Given the description of an element on the screen output the (x, y) to click on. 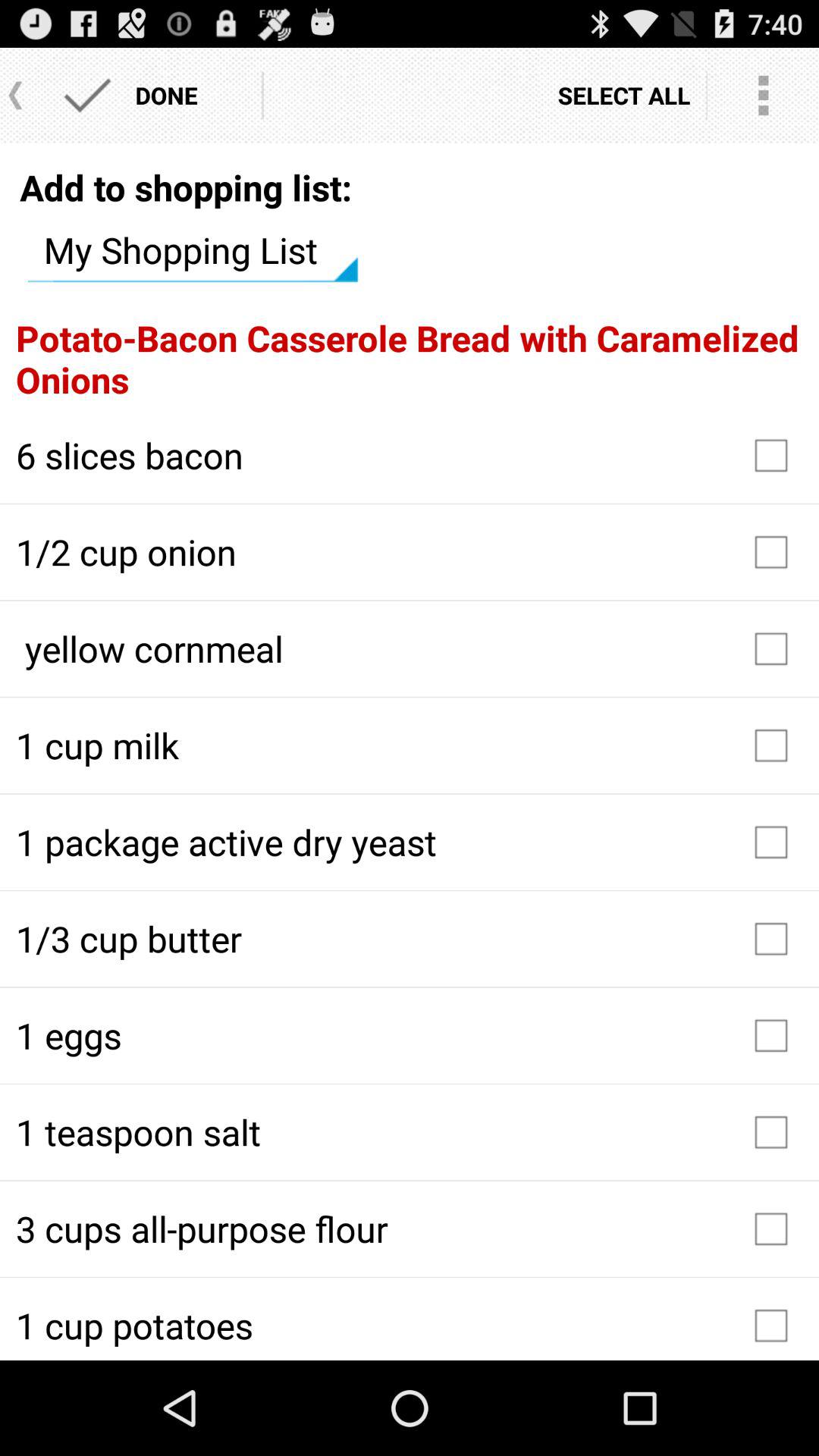
turn off item above the 1 3 cup item (409, 842)
